Given the description of an element on the screen output the (x, y) to click on. 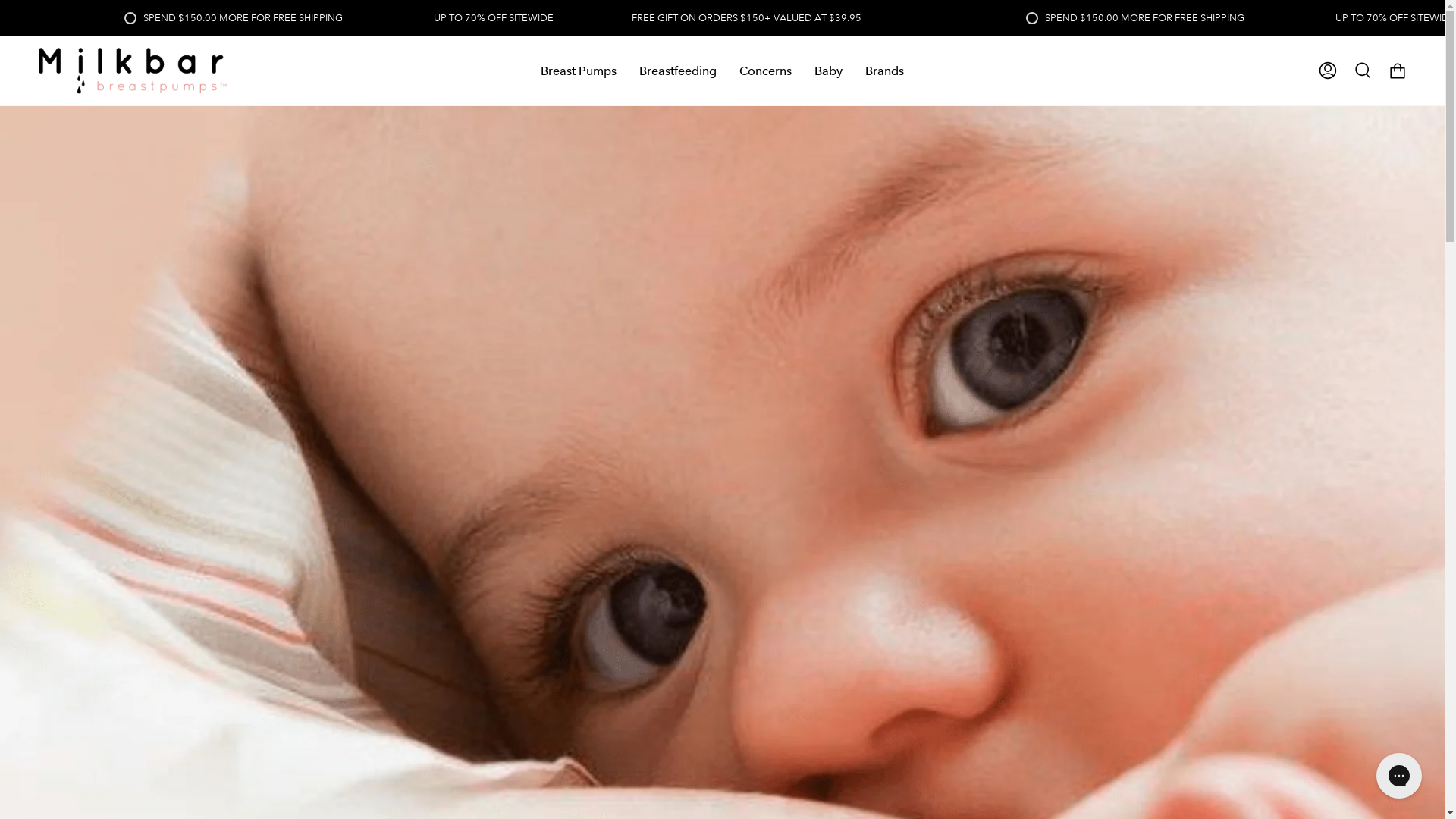
Concerns Element type: text (765, 70)
Search for products and breastfeeding resources Element type: text (1362, 70)
Account Element type: text (1327, 70)
Gorgias live chat messenger Element type: hover (1398, 775)
Breastfeeding Element type: text (677, 70)
Breast Pumps Element type: text (578, 70)
Cart Element type: text (1397, 70)
Brands Element type: text (884, 70)
Baby Element type: text (828, 70)
